Given the description of an element on the screen output the (x, y) to click on. 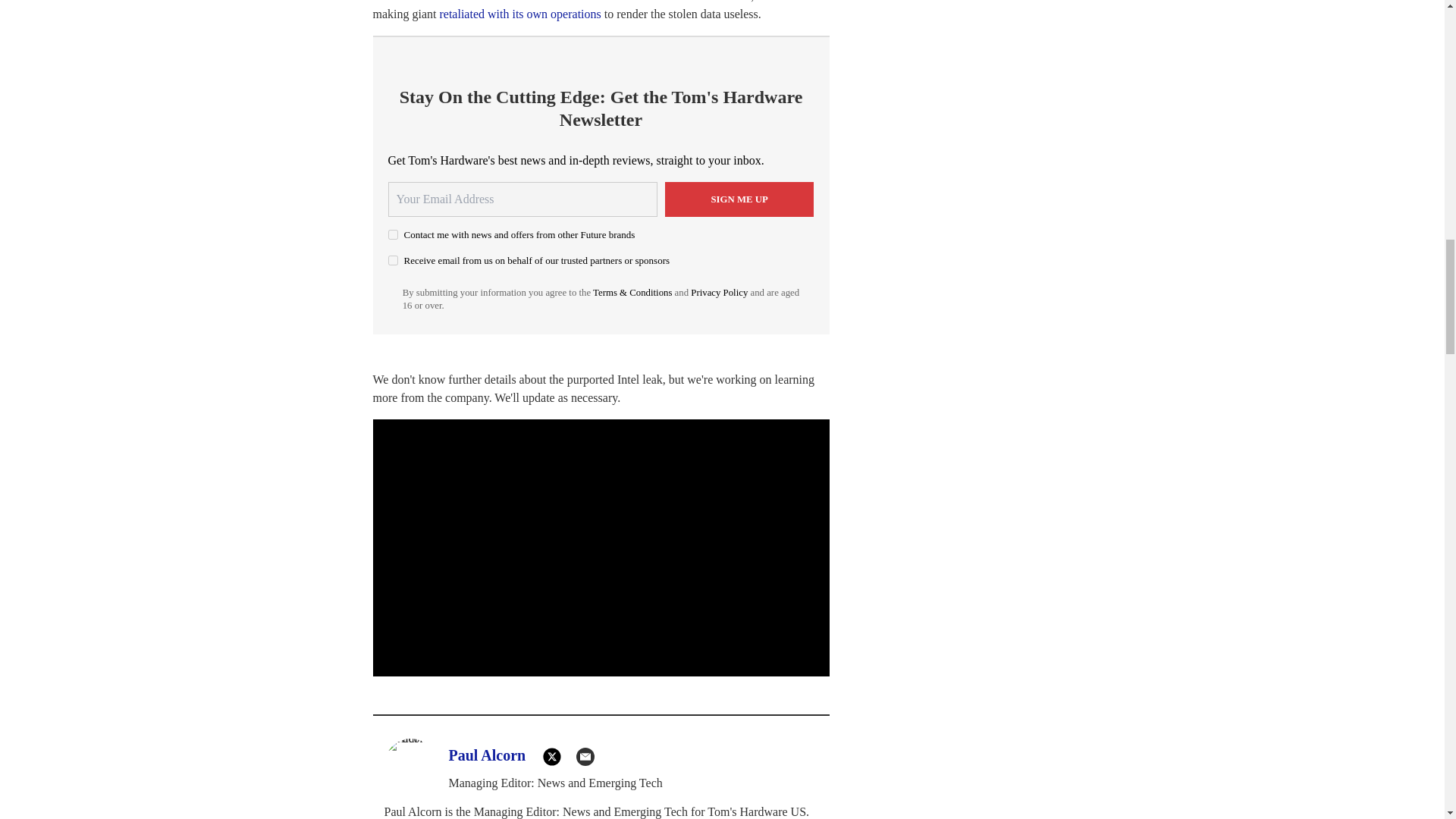
on (392, 234)
Sign me up (739, 199)
on (392, 260)
